Given the description of an element on the screen output the (x, y) to click on. 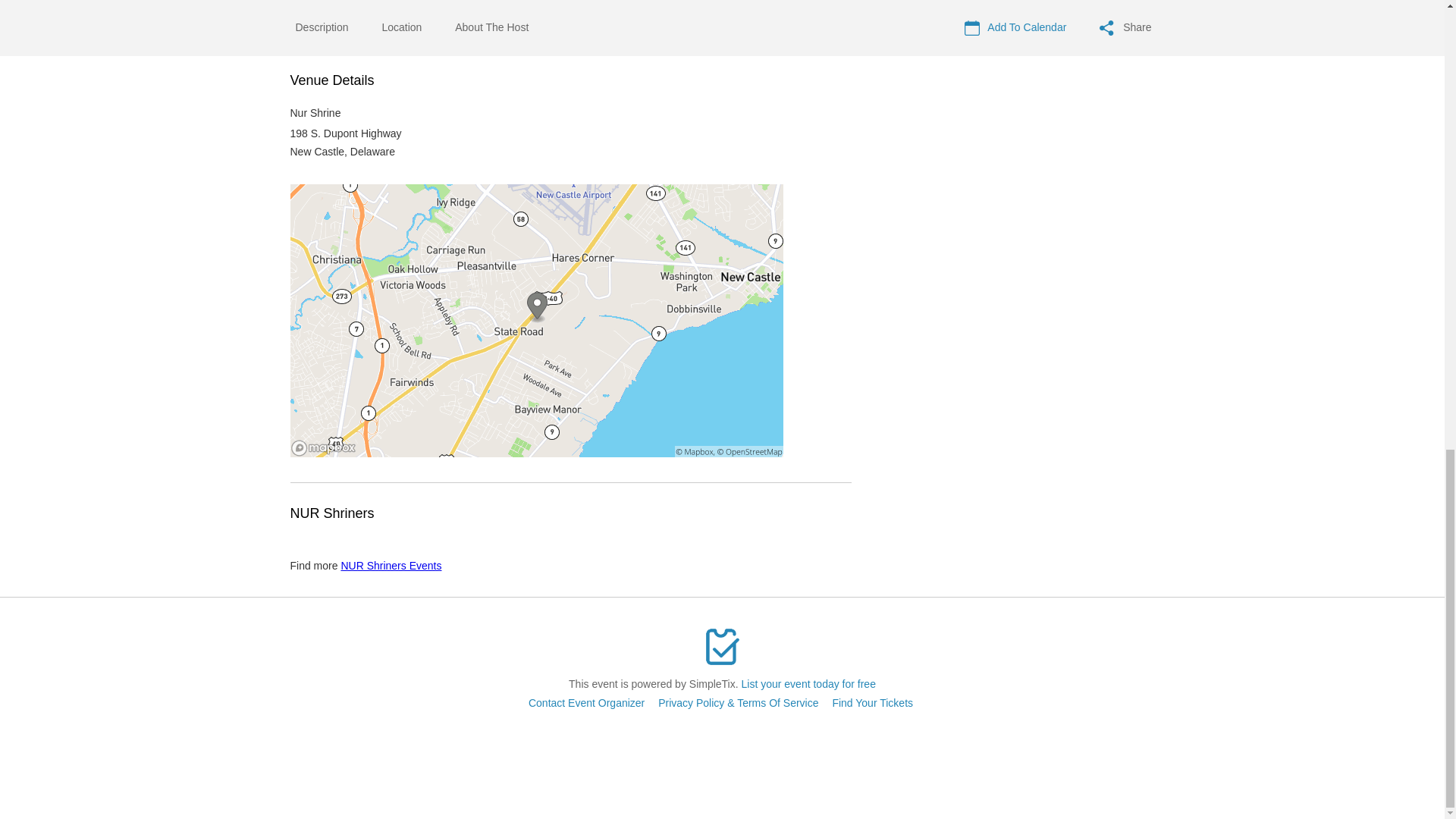
List your event today for free (808, 684)
Contact Event Organizer (586, 702)
Find Your Tickets (871, 702)
Find Your Tickets (871, 702)
List your event today for free (808, 684)
NUR Shriners Events (390, 565)
Powered by SimpleTix (721, 646)
Contact Event Organizer (586, 702)
